Given the description of an element on the screen output the (x, y) to click on. 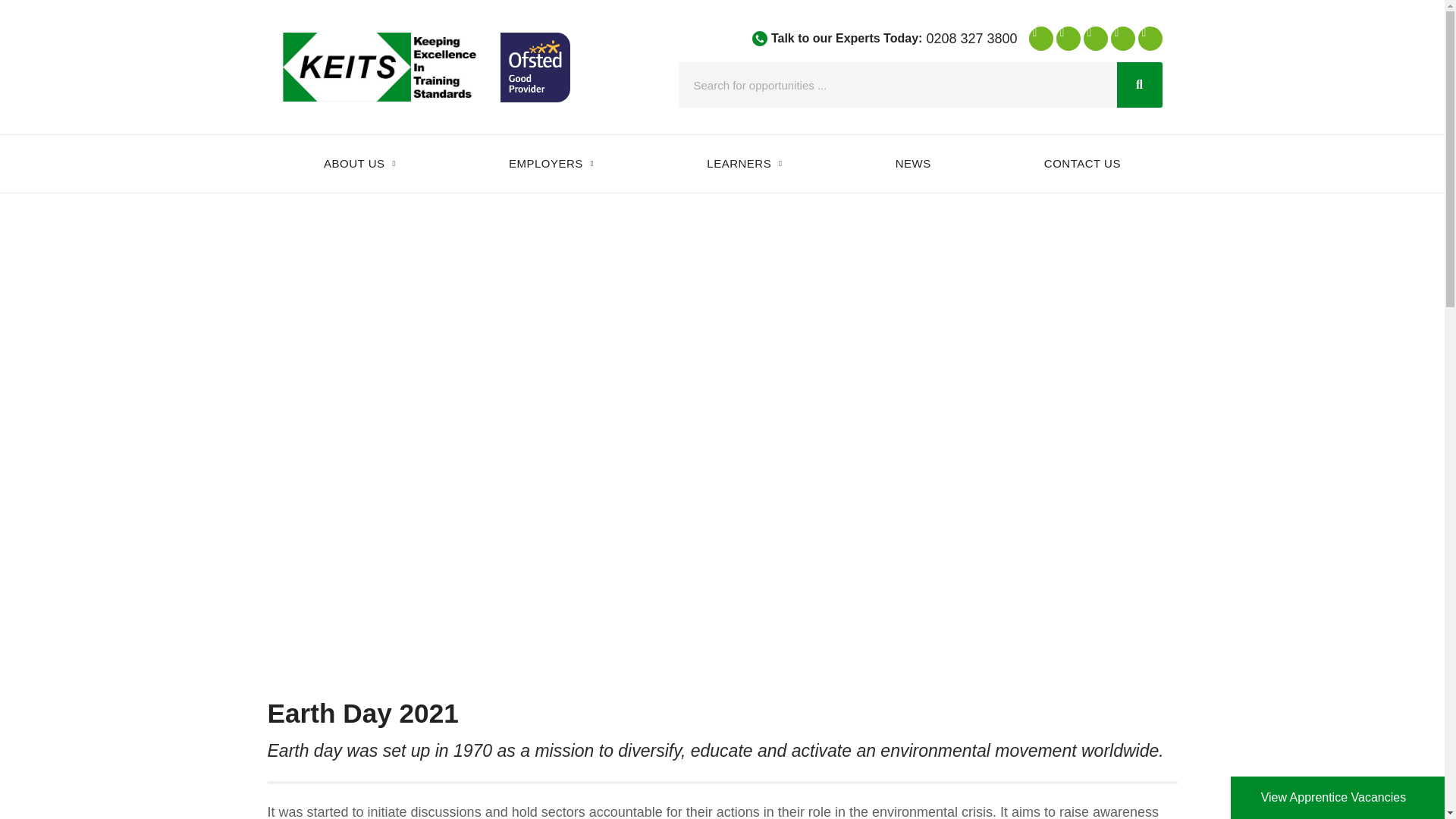
ABOUT US (358, 163)
EMPLOYERS (550, 163)
Search (1138, 84)
LEARNERS (744, 163)
Search (897, 84)
